Given the description of an element on the screen output the (x, y) to click on. 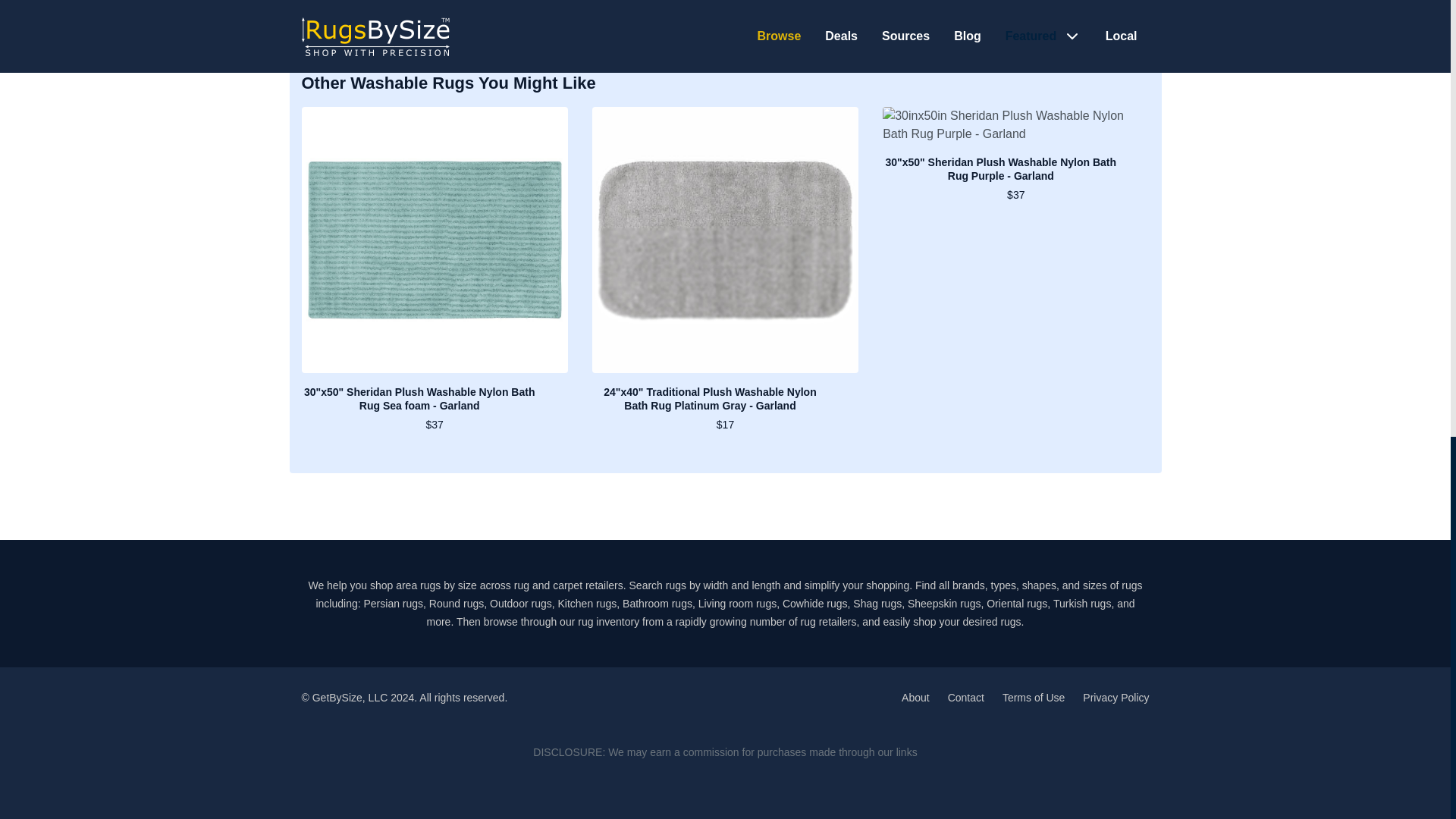
Terms of Use (1033, 697)
select (375, 3)
Privacy Policy (1115, 697)
About (915, 697)
clear (337, 3)
Contact (965, 697)
